Given the description of an element on the screen output the (x, y) to click on. 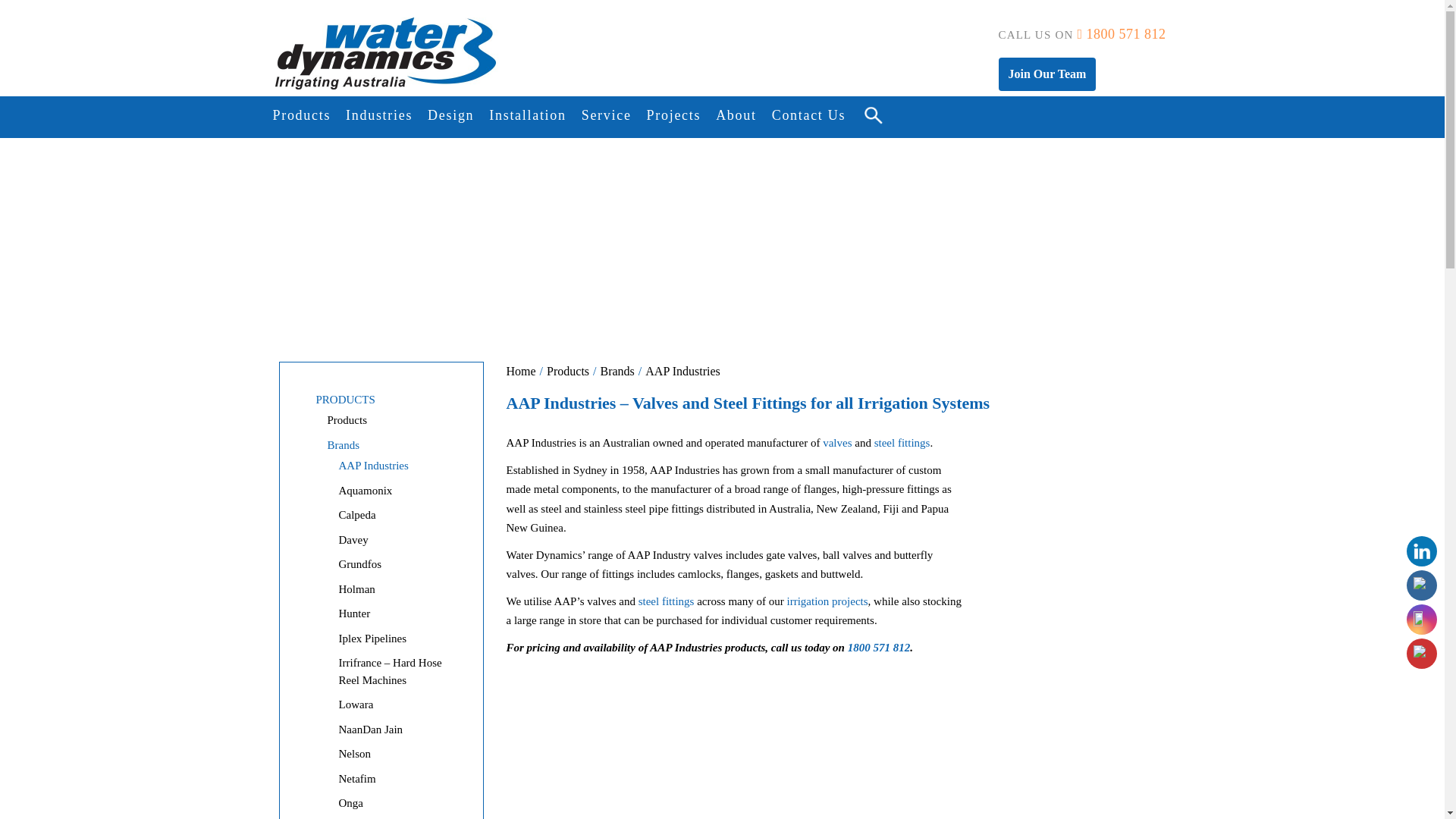
Products (302, 114)
Facebook (1421, 585)
Join Our Team (1047, 73)
YouTube (1421, 653)
1800 571 812 (1121, 33)
LinkedIn (1421, 550)
